Given the description of an element on the screen output the (x, y) to click on. 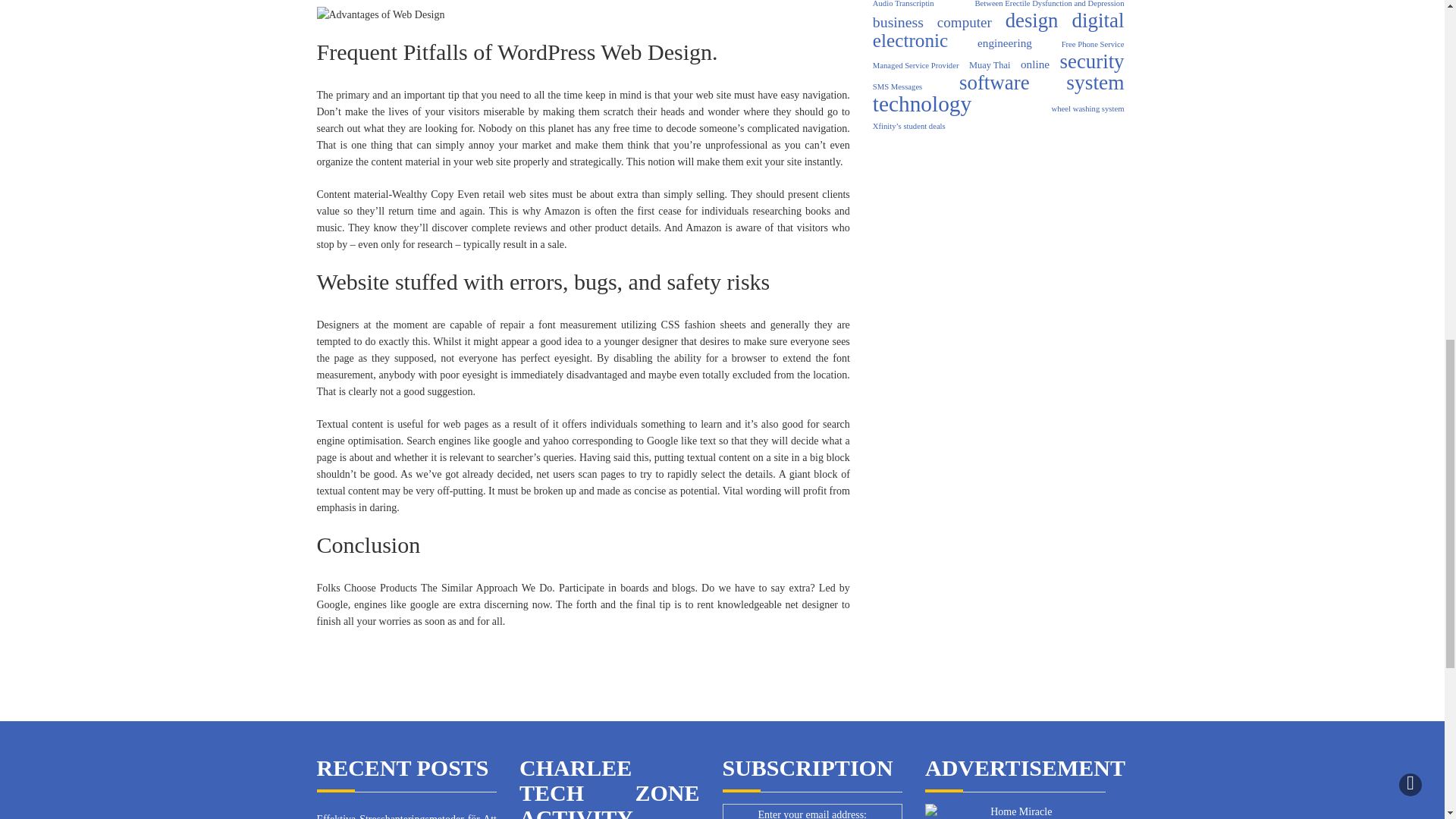
business (897, 21)
Between Erectile Dysfunction and Depression (1049, 6)
computer (964, 22)
electronic (909, 40)
digital (1097, 20)
Audio Transcriptin (903, 6)
design (1032, 20)
